Given the description of an element on the screen output the (x, y) to click on. 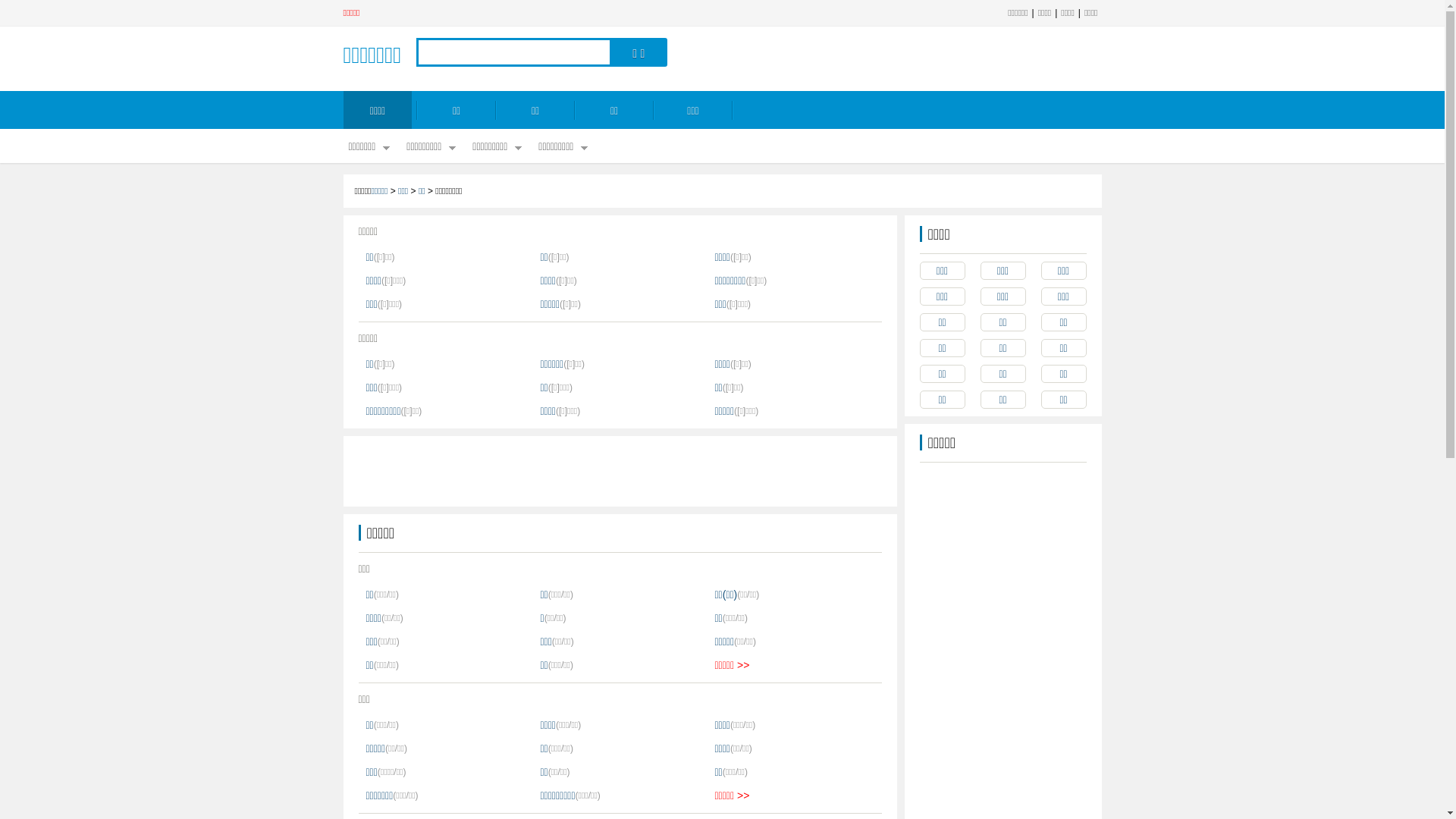
Advertisement Element type: hover (618, 470)
